Given the description of an element on the screen output the (x, y) to click on. 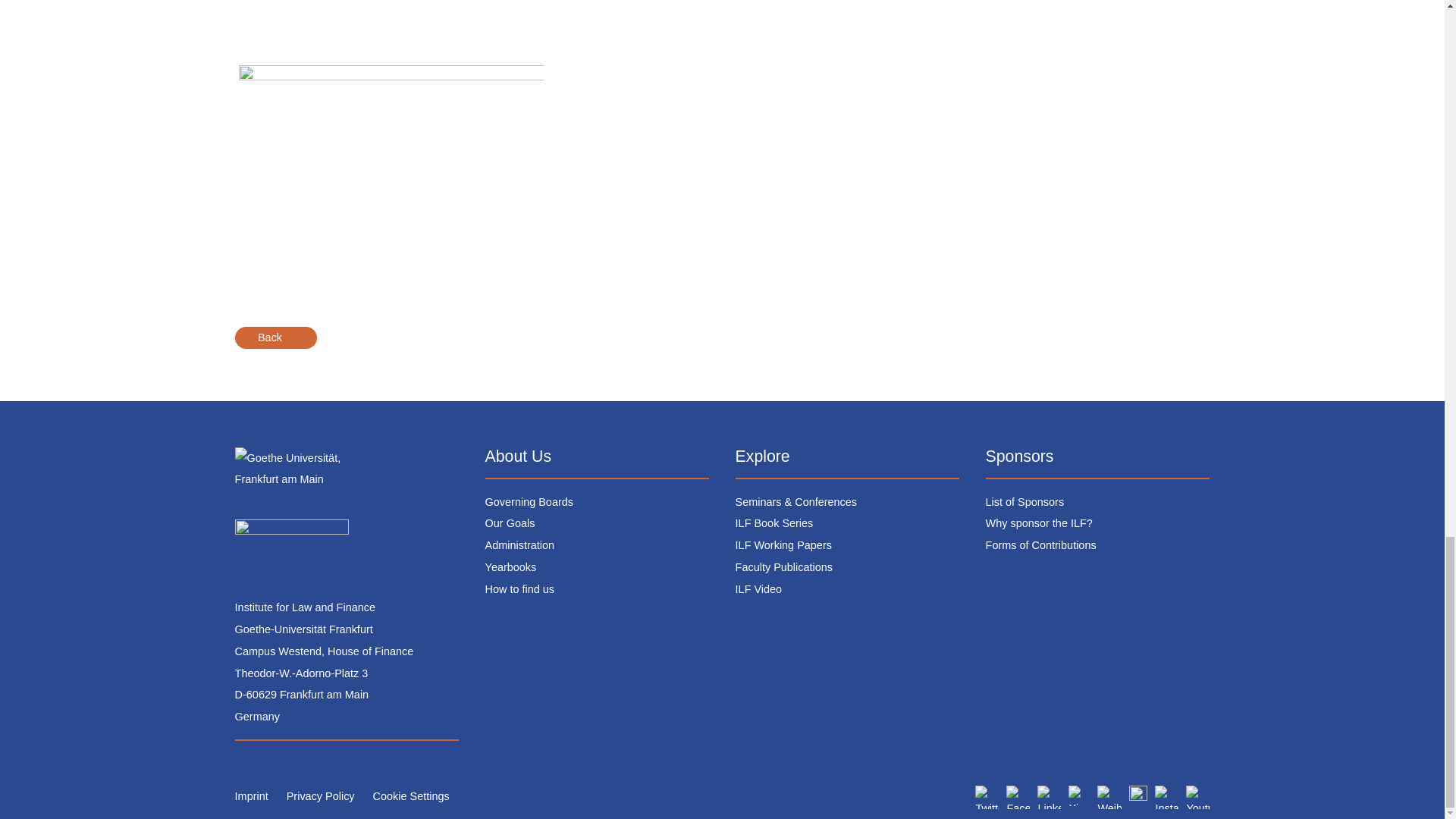
Back (275, 337)
Forms of Contributions (1040, 544)
Yearbooks (510, 567)
ILF Book Series (774, 522)
How to find us (519, 589)
List of Sponsors (1024, 501)
Our Goals (509, 522)
Governing Boards (528, 501)
ILF Video (759, 589)
Why sponsor the ILF? (1039, 522)
Administration (519, 544)
ILF Working Papers (783, 544)
